Given the description of an element on the screen output the (x, y) to click on. 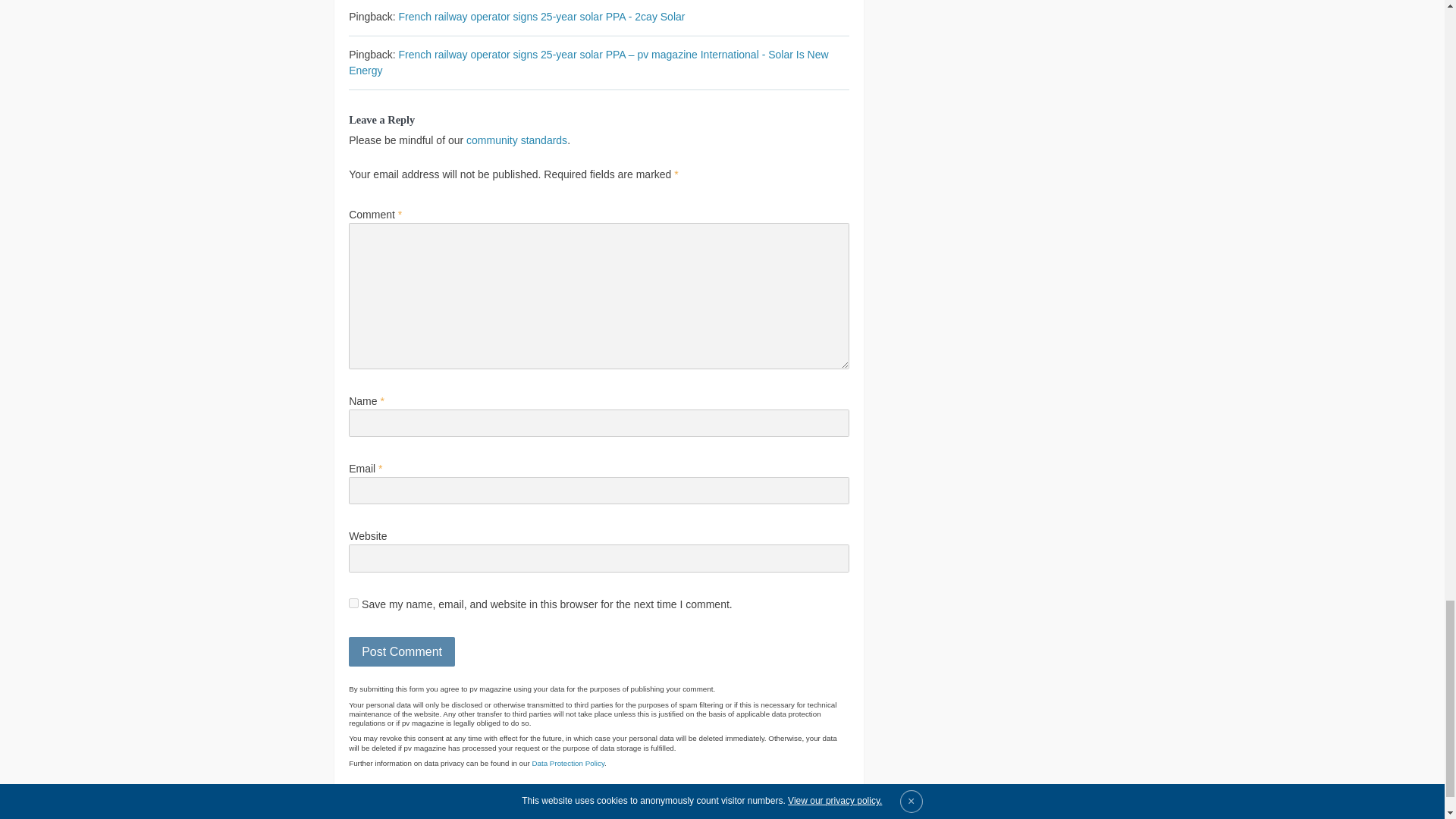
Post Comment (401, 652)
yes (353, 603)
